Given the description of an element on the screen output the (x, y) to click on. 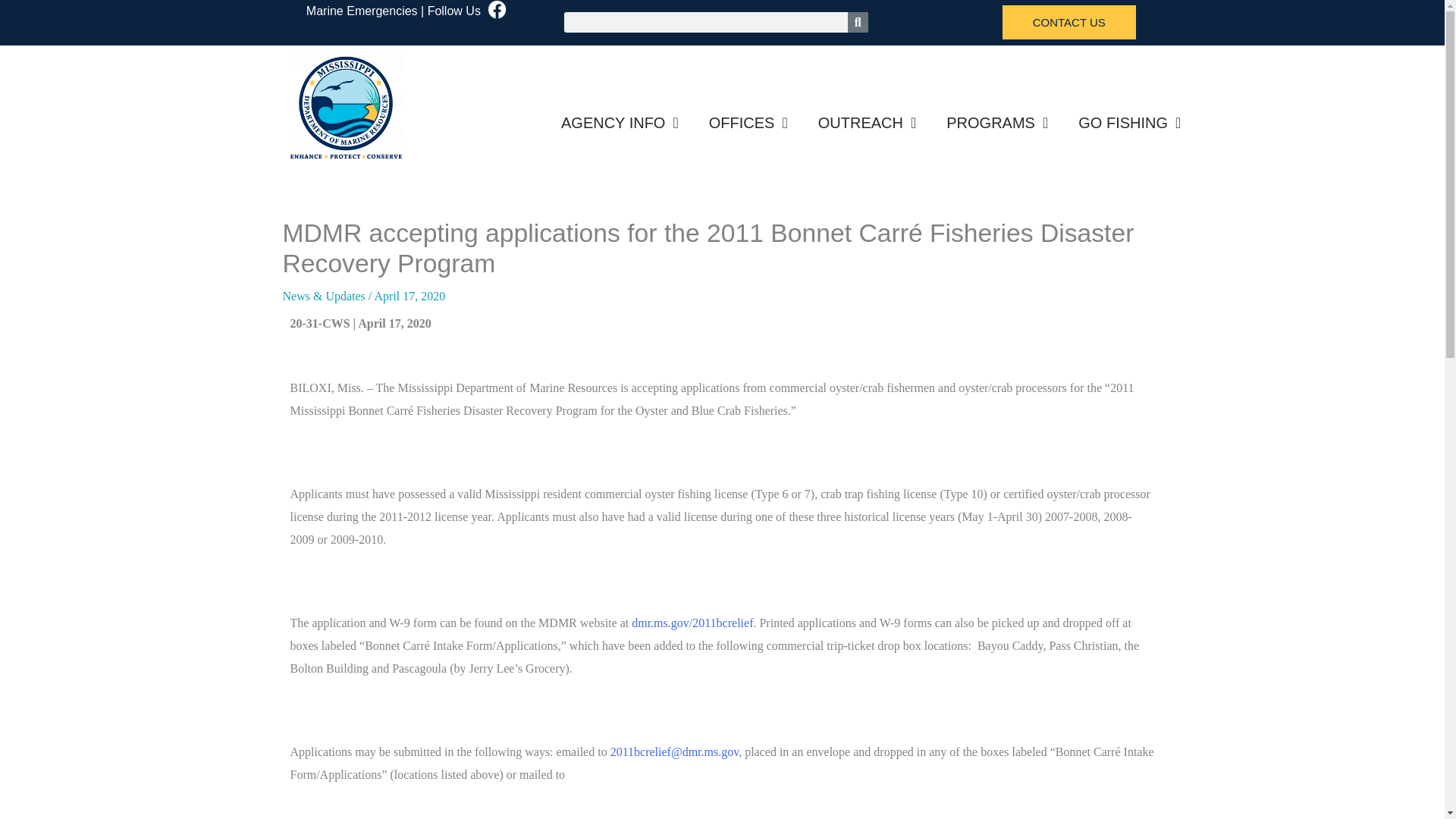
OFFICES (748, 122)
Marine Emergencies (361, 10)
AGENCY INFO (620, 122)
Search (857, 22)
CONTACT US (1069, 22)
Follow Us (454, 10)
